Given the description of an element on the screen output the (x, y) to click on. 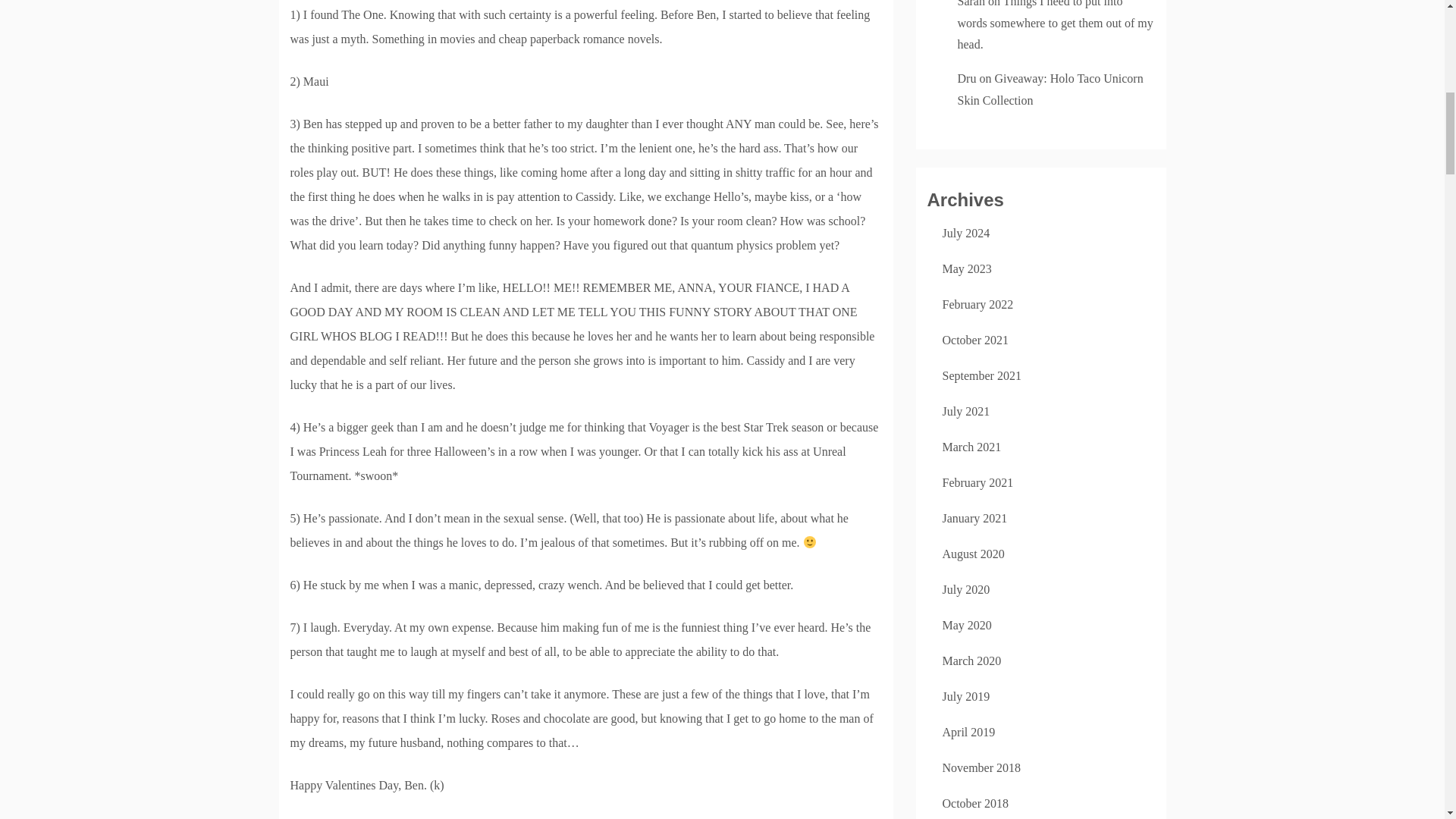
March 2021 (971, 446)
July 2021 (966, 410)
Giveaway: Holo Taco Unicorn Skin Collection (1049, 89)
February 2021 (977, 481)
May 2023 (966, 268)
February 2022 (977, 304)
September 2021 (981, 375)
July 2024 (966, 232)
October 2021 (975, 339)
